Given the description of an element on the screen output the (x, y) to click on. 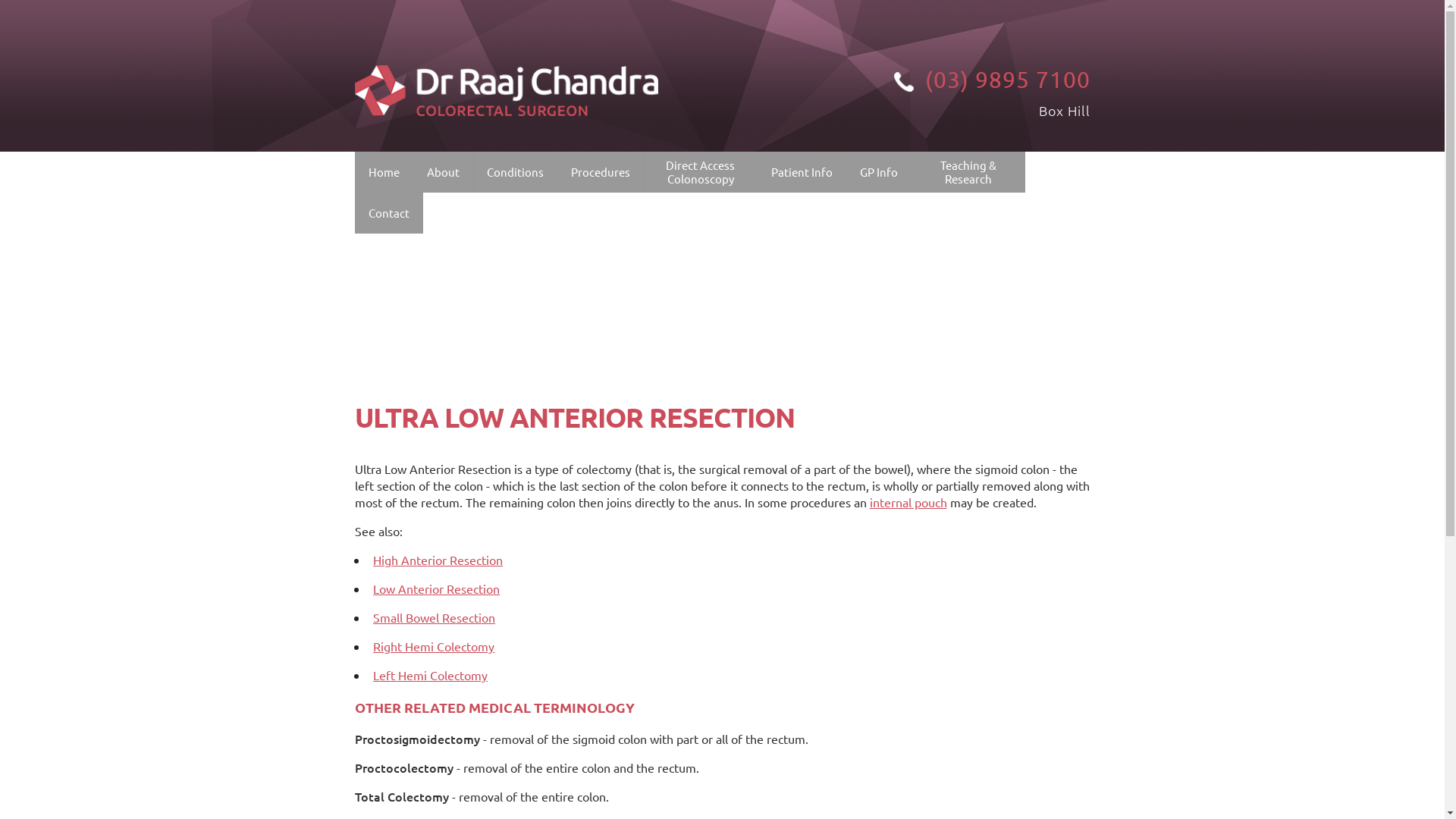
Colonic bleeding Element type: text (579, 281)
Haemorrhoids Element type: text (579, 424)
About Element type: text (443, 171)
Procedures Element type: text (600, 171)
Contact Us Element type: text (461, 251)
Inflammatory bowel disease Element type: text (579, 246)
Diverticular disease Element type: text (579, 317)
Right Hemi Colectomy Element type: text (662, 424)
Skip to main content Element type: text (55, 0)
GP Info Element type: text (878, 171)
Gastroscopy Element type: text (662, 495)
Contact Element type: text (387, 212)
New Patient Registration Element type: text (862, 246)
Left Hemi Colectomy Element type: text (430, 674)
Low Anterior Resection Element type: text (436, 588)
Small Bowel Resection Element type: text (434, 616)
Advanced laparoscopic surgery Element type: text (662, 210)
Home Element type: text (382, 171)
Surgical Emergencies Element type: text (579, 388)
High Anterior Resection Element type: text (662, 281)
Patient Referral Element type: text (952, 210)
Perianal Abscess Element type: text (579, 531)
(03) 9895 7100 Element type: text (938, 78)
Anal Fistula Element type: text (579, 495)
Small Bowel Resection Element type: text (662, 388)
High Anterior Resection Element type: text (437, 559)
Bowel cancer Element type: text (579, 210)
Locations Element type: text (461, 286)
Patient Info Element type: text (801, 171)
internal pouch Element type: text (907, 501)
Left Hemi Colectomy Element type: text (662, 459)
Low Anterior Resection Element type: text (662, 317)
Hernias Element type: text (579, 352)
Dr Raaj Chandra Home Element type: hover (506, 58)
Teaching & Research Element type: text (967, 171)
Ultra Low Anterior Resection Element type: text (662, 352)
Conditions Element type: text (514, 171)
Box Hill Element type: text (1064, 110)
Anal Fissure Element type: text (579, 459)
Your first visit Element type: text (862, 210)
Direct Access Colonoscopy Element type: text (700, 171)
Appointment Request Element type: text (862, 281)
Reconstructive Pouch Surgery Element type: text (662, 246)
Right Hemi Colectomy Element type: text (433, 645)
